Given the description of an element on the screen output the (x, y) to click on. 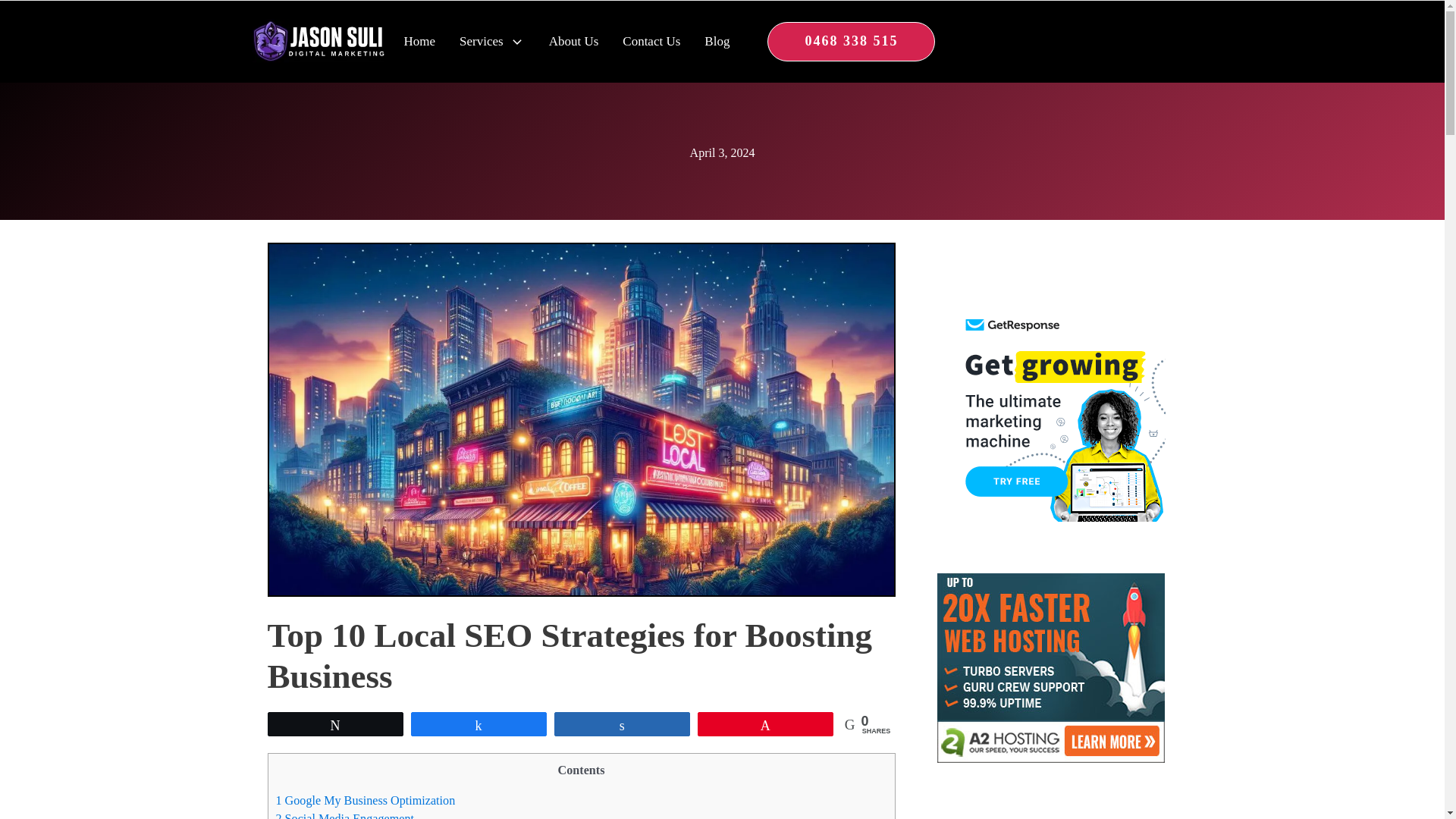
About Us (573, 41)
Home (411, 41)
0468 338 515 (850, 41)
Services (481, 41)
Contact Us (651, 41)
1 Google My Business Optimization (365, 799)
2 Social Media Engagement (344, 815)
